Given the description of an element on the screen output the (x, y) to click on. 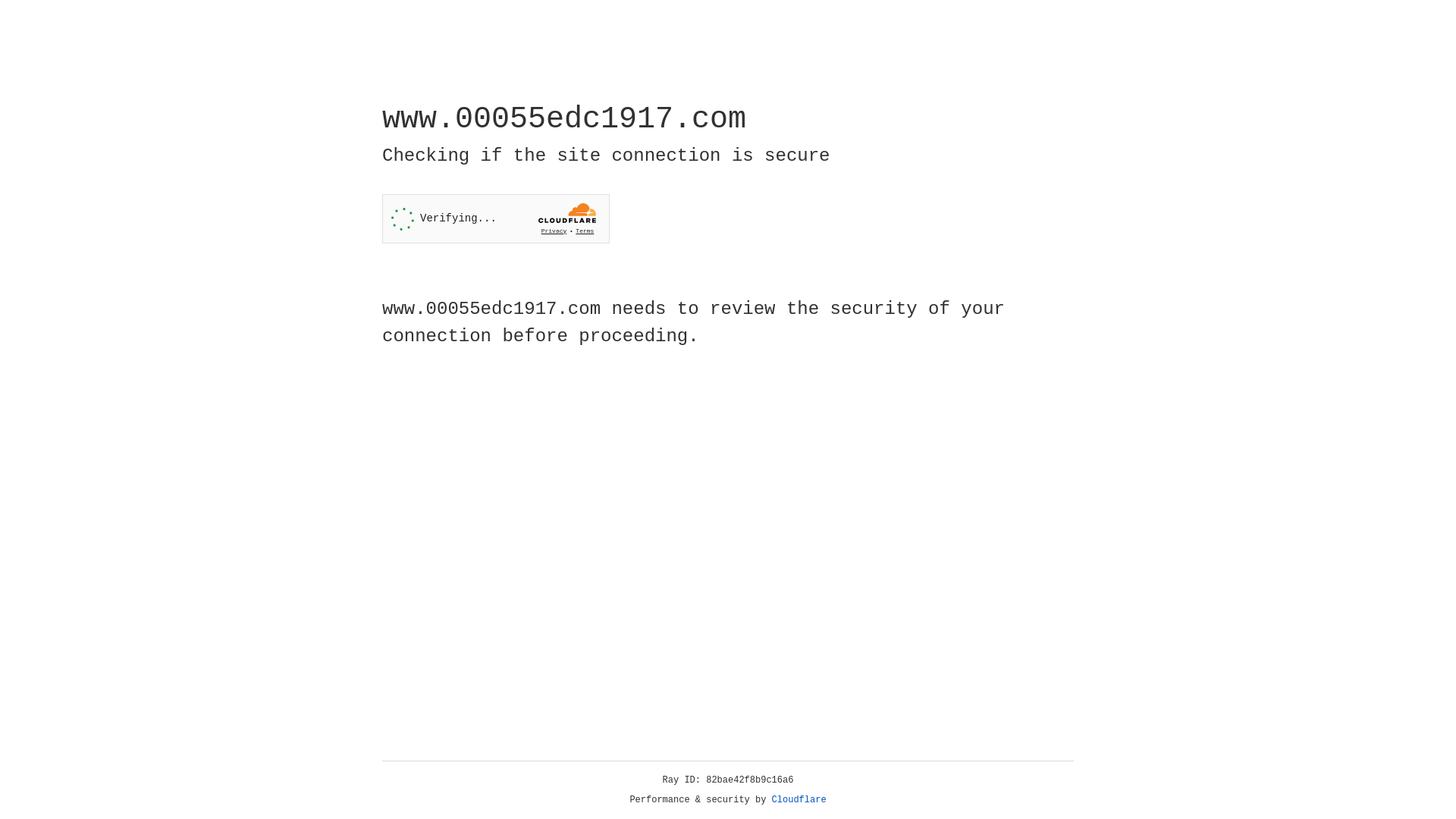
Cloudflare Element type: text (798, 799)
Widget containing a Cloudflare security challenge Element type: hover (495, 218)
